Given the description of an element on the screen output the (x, y) to click on. 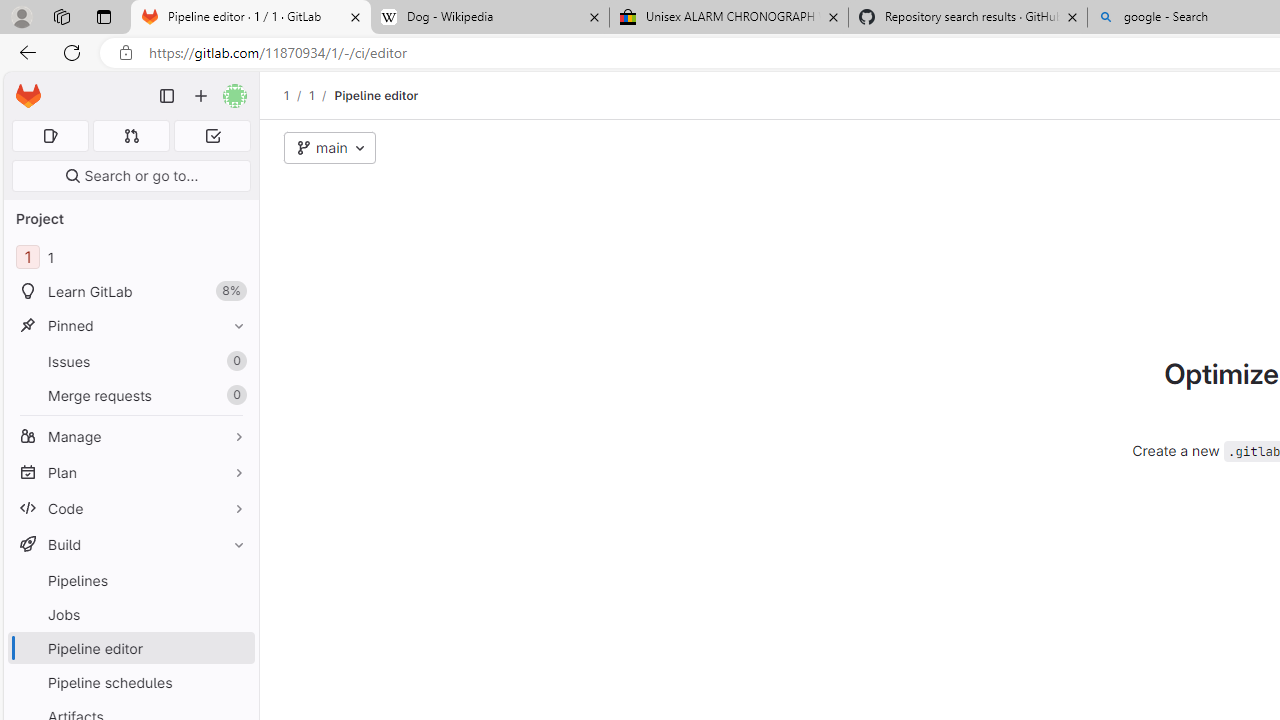
Plan (130, 471)
Pin Pipeline editor (234, 647)
Plan (130, 471)
Primary navigation sidebar (167, 96)
Pipeline editor (376, 95)
